Given the description of an element on the screen output the (x, y) to click on. 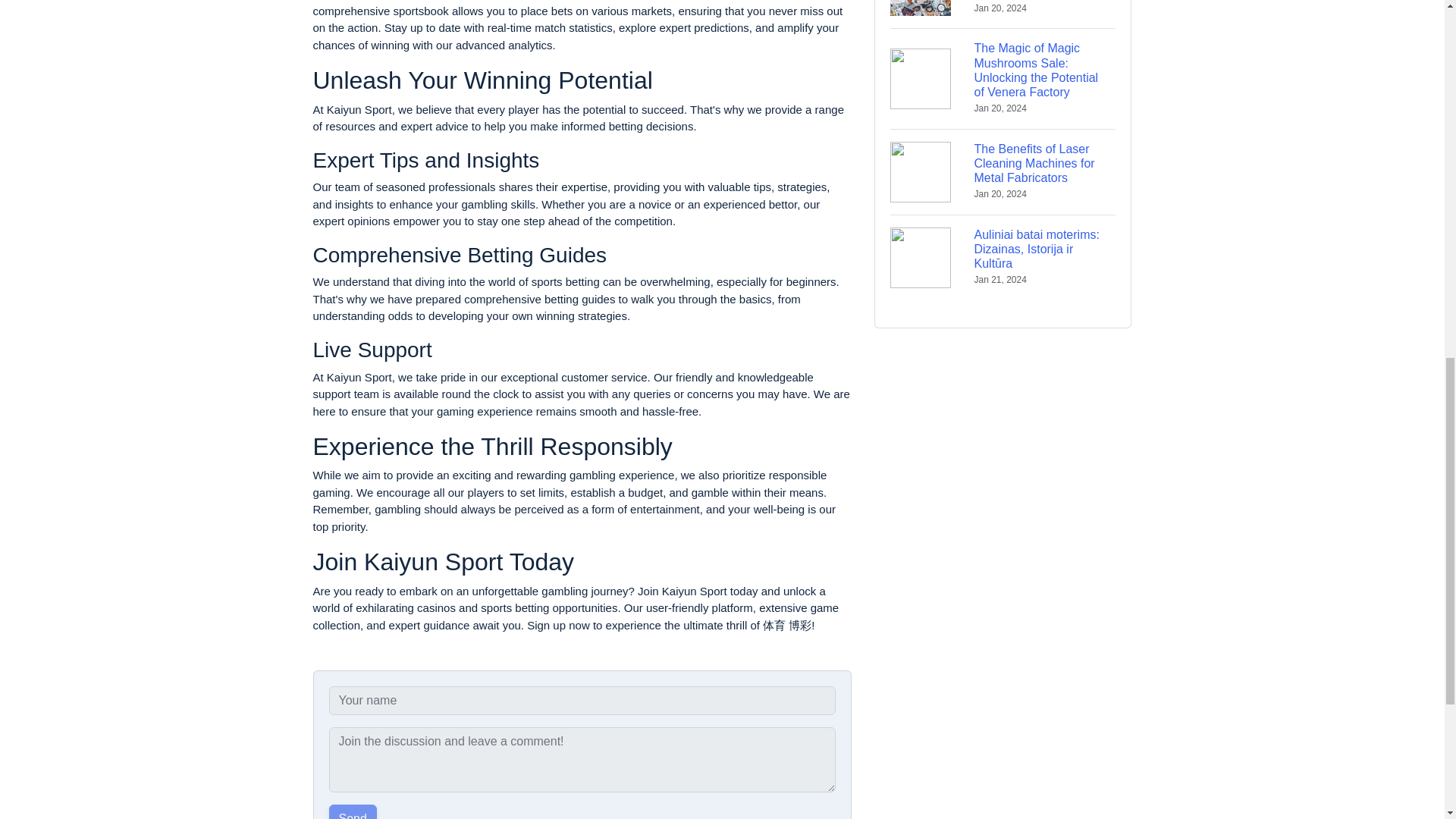
Send (353, 811)
Send (353, 811)
